Given the description of an element on the screen output the (x, y) to click on. 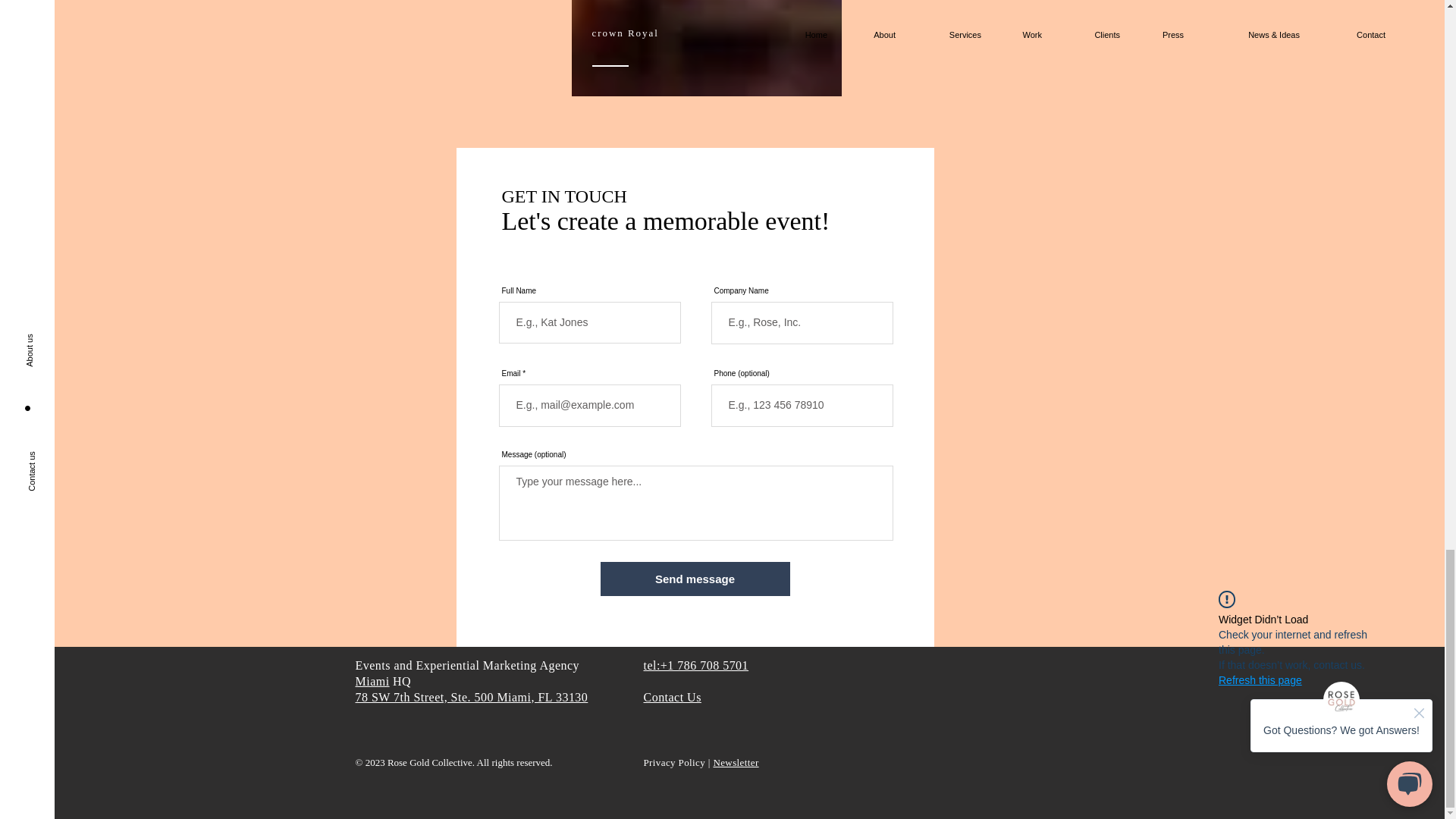
Newsletter (735, 762)
Contact Us (671, 697)
Miami (371, 680)
78 SW 7th Street, Ste. 500 Miami, FL 33130 (471, 697)
Send message (694, 578)
